Given the description of an element on the screen output the (x, y) to click on. 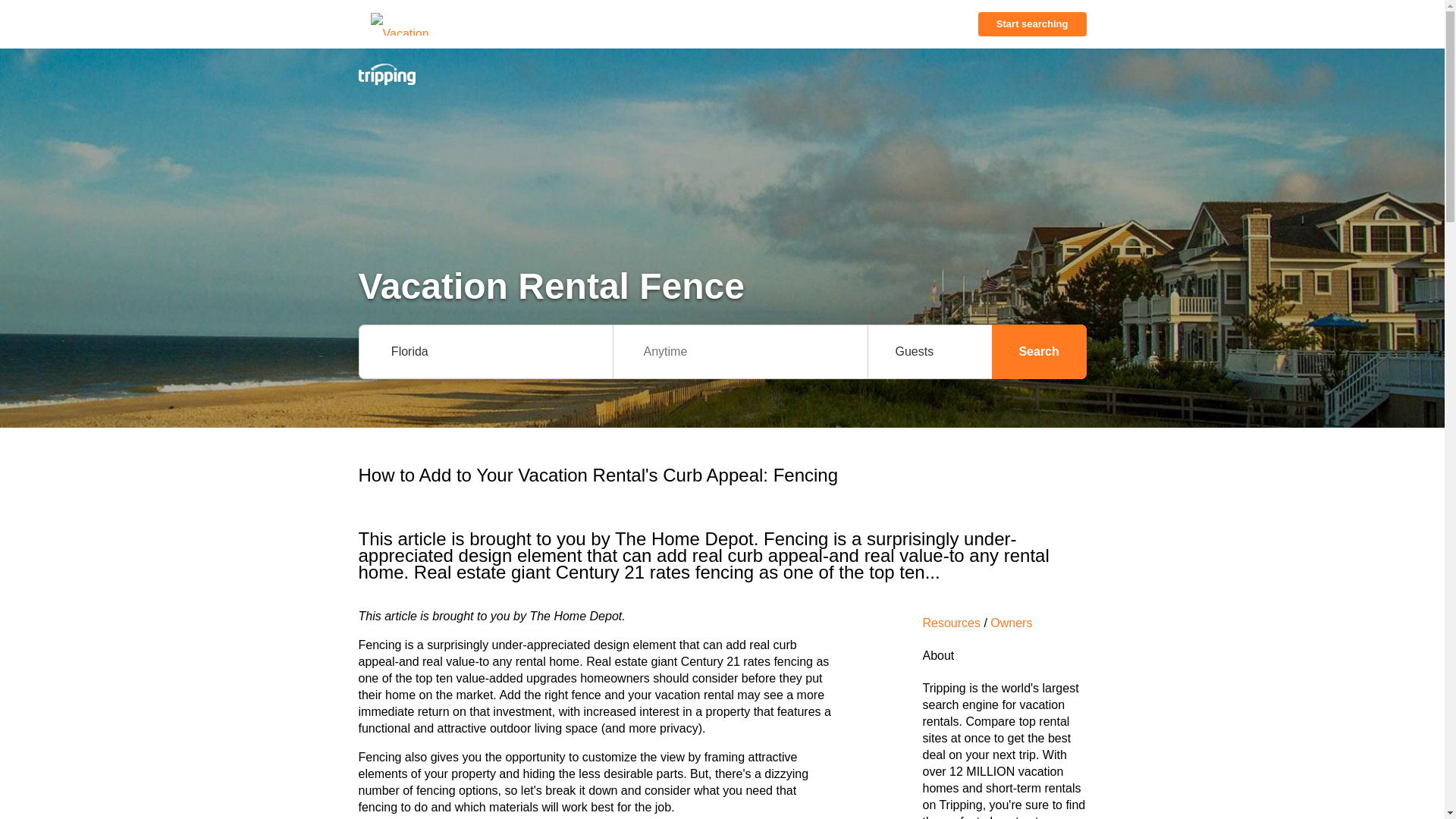
Start searching (1032, 24)
Resources (950, 622)
Owners (1011, 622)
Search (1038, 351)
